Given the description of an element on the screen output the (x, y) to click on. 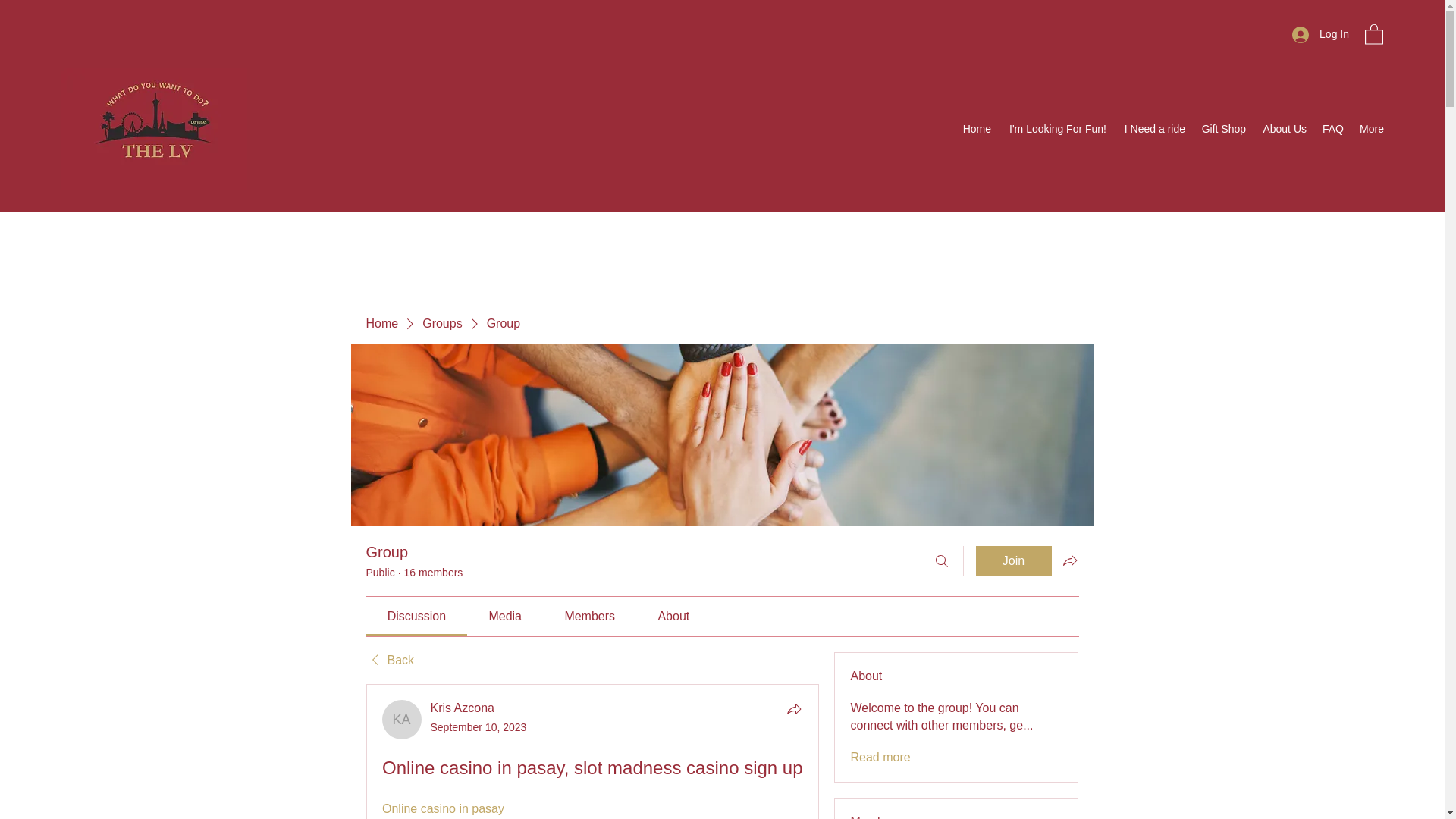
Home (976, 128)
September 10, 2023 (478, 727)
Home (381, 323)
Kris Azcona (401, 719)
Groups (441, 323)
I Need a ride (1152, 128)
Back (389, 660)
Join (1013, 561)
Kris Azcona (462, 707)
Gift Shop (1222, 128)
